Given the description of an element on the screen output the (x, y) to click on. 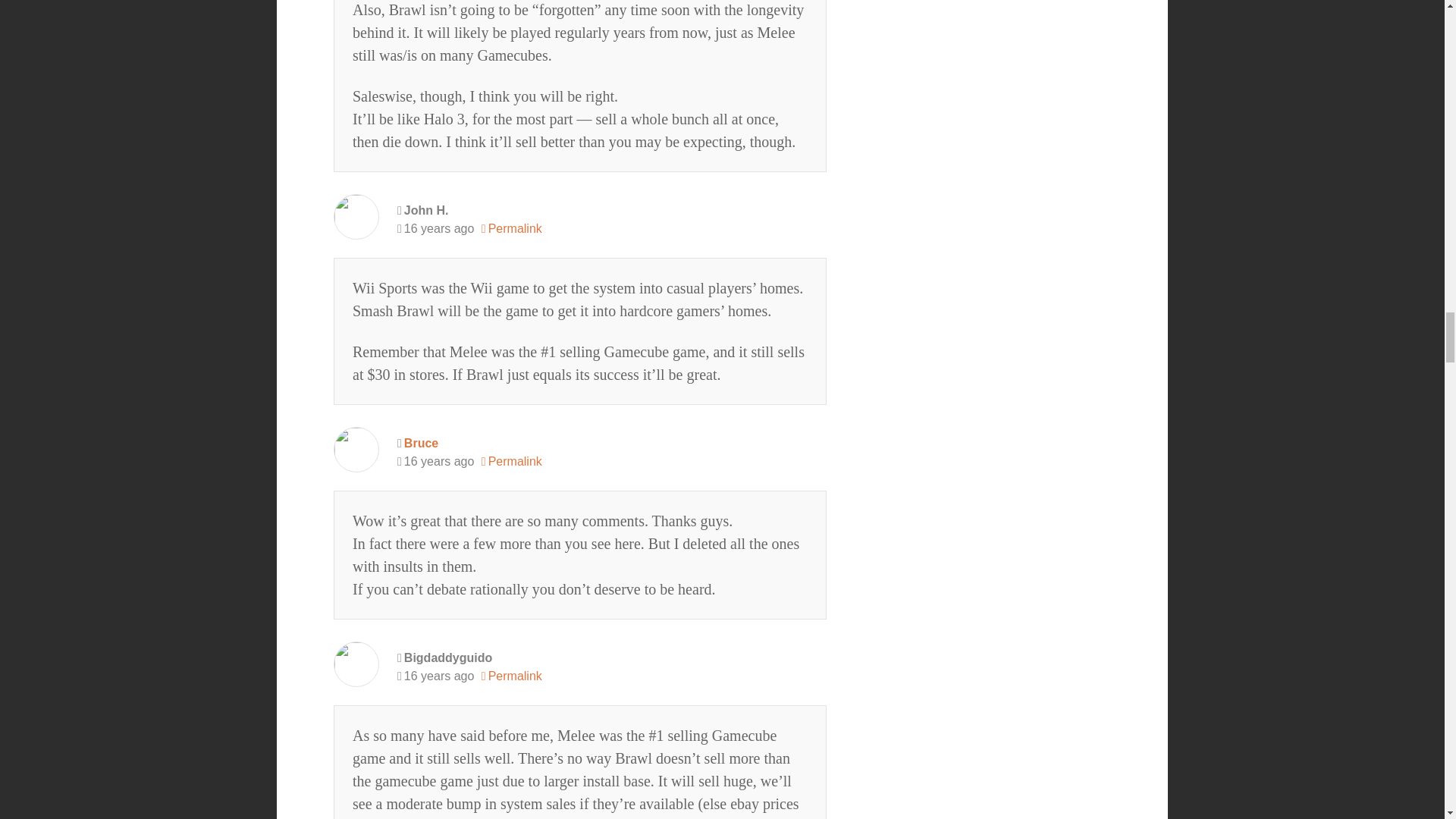
Permalink (511, 229)
Permalink (511, 461)
Permalink (511, 676)
Bruce (421, 442)
